Given the description of an element on the screen output the (x, y) to click on. 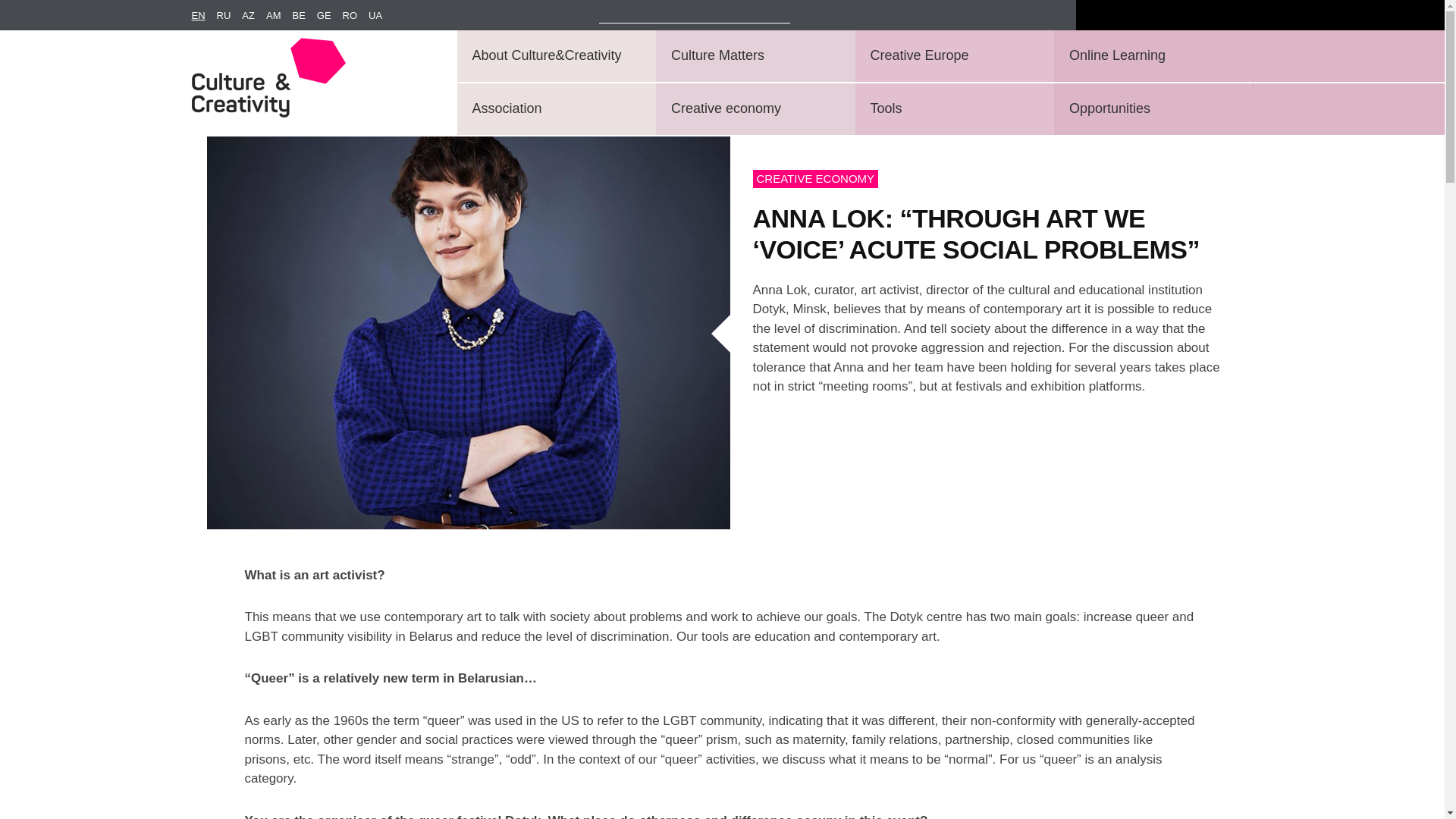
Creative Europe (952, 55)
AM (279, 15)
RO (355, 15)
BE (303, 15)
CREATIVE ECONOMY (816, 178)
EN (202, 15)
AZ (253, 15)
Association (553, 109)
Opportunities (1150, 109)
Tools (952, 109)
